Given the description of an element on the screen output the (x, y) to click on. 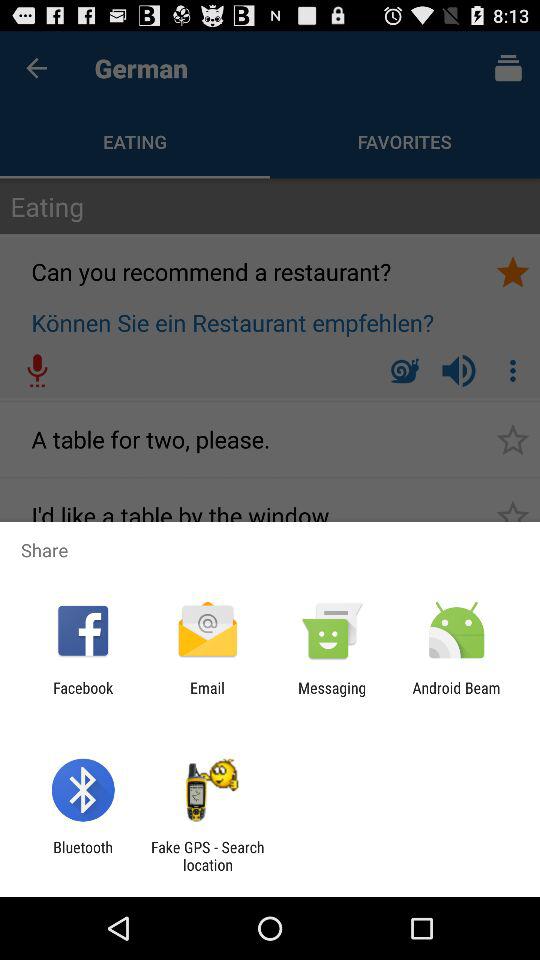
select the app to the left of the email app (83, 696)
